Given the description of an element on the screen output the (x, y) to click on. 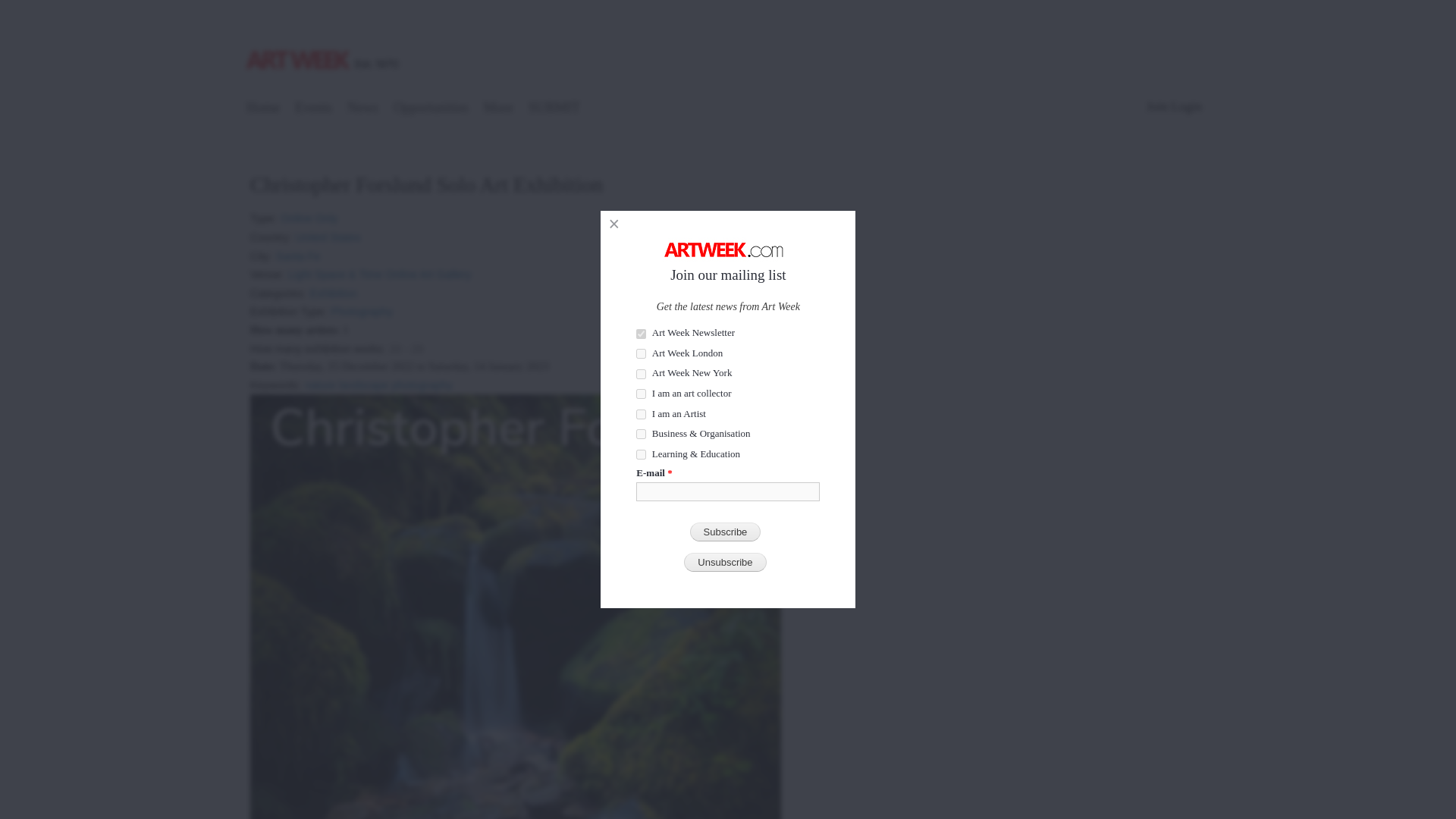
nature landscape photography (377, 379)
Home (263, 109)
News (362, 109)
30824 (641, 374)
Login (1186, 106)
Events (313, 109)
Skip to main content (695, 1)
729 (641, 334)
Subscribe (725, 531)
Santa Fe (298, 251)
Unsubscribe (724, 561)
11700 (641, 454)
30823 (641, 353)
Art news (362, 109)
Photography (361, 306)
